Given the description of an element on the screen output the (x, y) to click on. 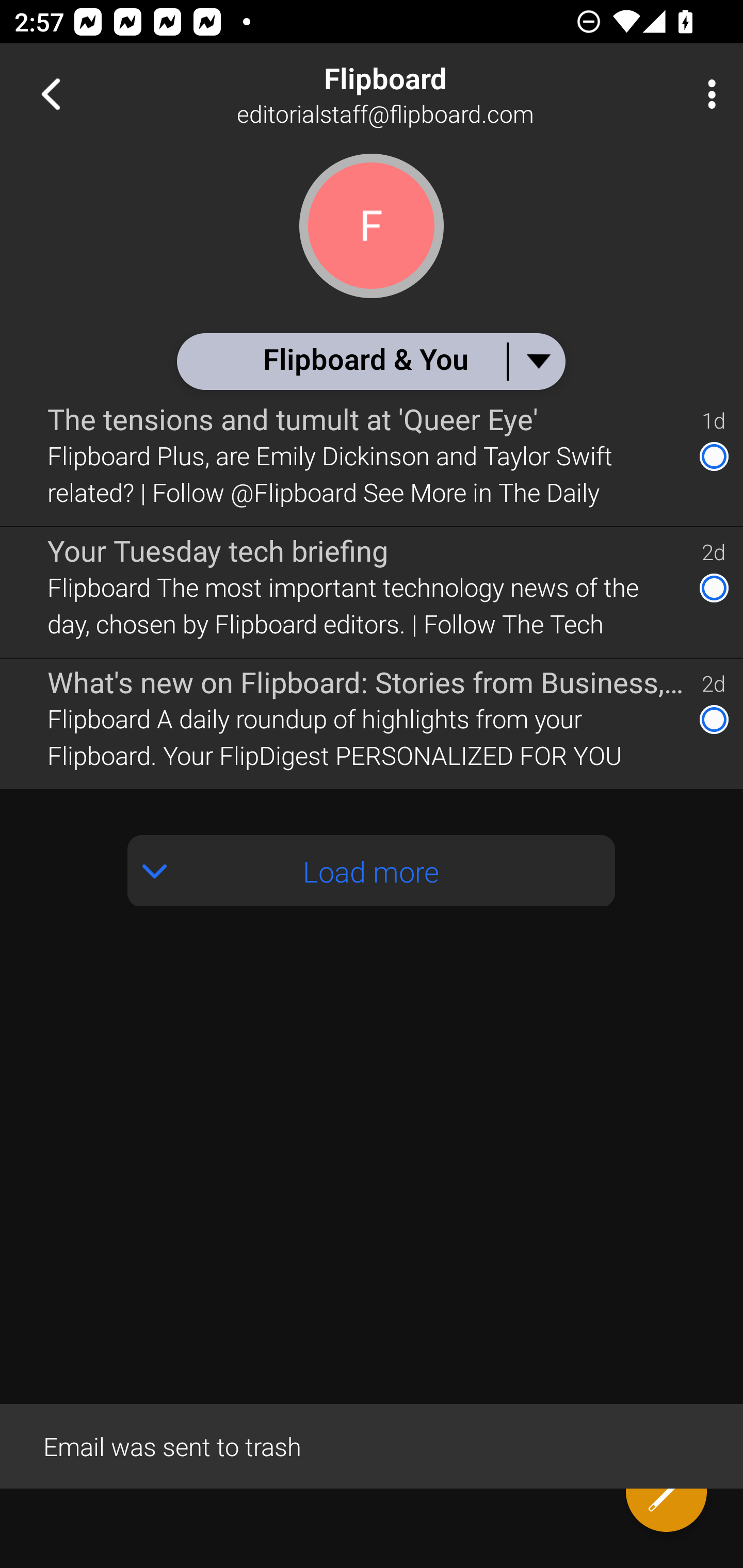
Navigate up (50, 93)
Flipboard editorialstaff@flipboard.com (436, 93)
More Options (706, 93)
Flipboard & You (370, 361)
Load more (371, 870)
Email was sent to trash (371, 1445)
